Given the description of an element on the screen output the (x, y) to click on. 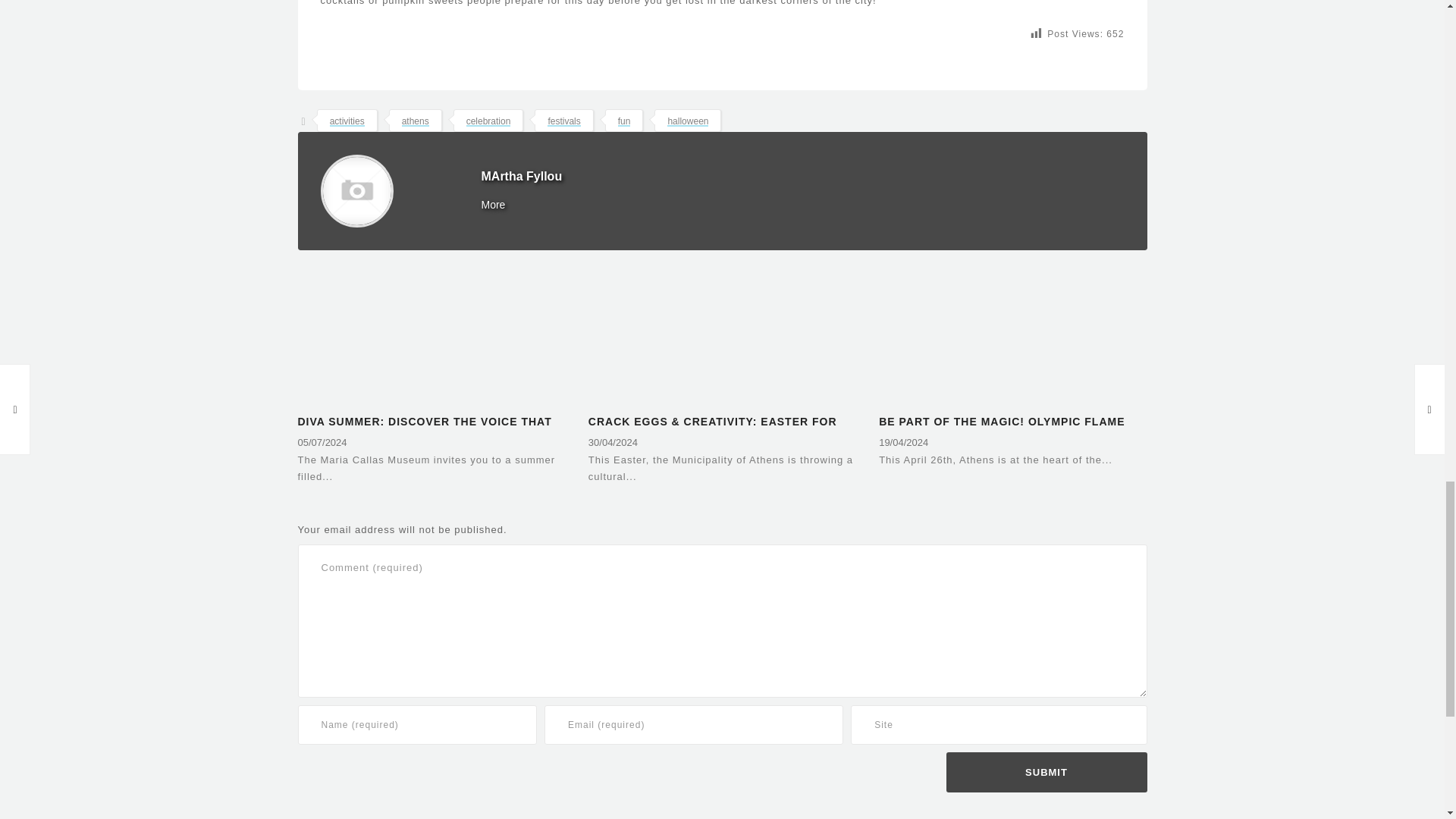
athens (415, 121)
halloween (686, 121)
festivals (563, 121)
celebration (488, 121)
More (492, 204)
activities (347, 121)
Submit (1046, 772)
fun (623, 121)
MArtha Fyllou (521, 175)
